Given the description of an element on the screen output the (x, y) to click on. 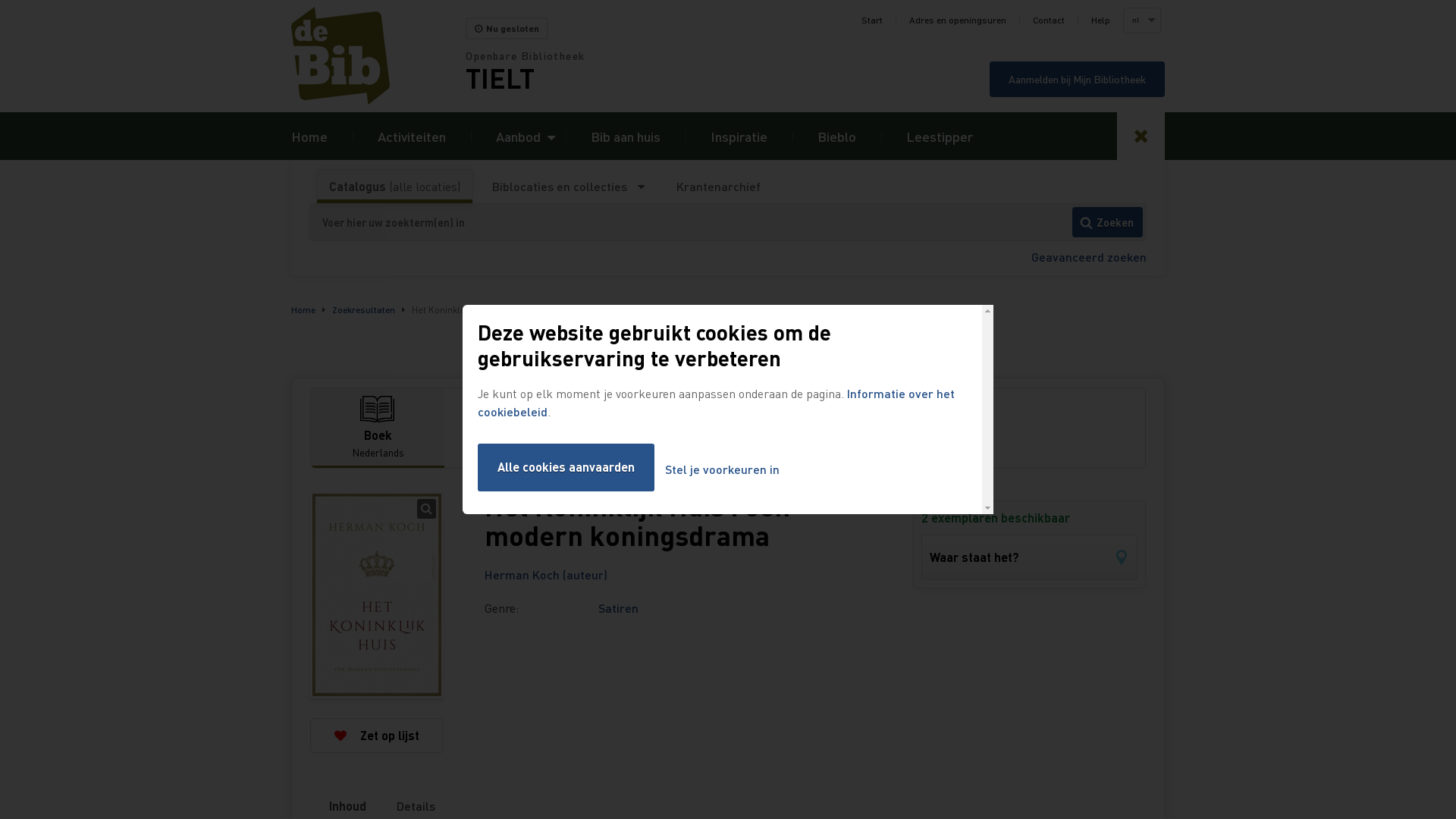
Start Element type: text (871, 20)
Stel je voorkeuren in Element type: text (722, 469)
Adres en openingsuren Element type: text (957, 20)
Zoekresultaten Element type: text (363, 309)
Leestipper Element type: text (939, 136)
Help Element type: text (1100, 20)
Aanmelden bij Mijn Bibliotheek Element type: text (1076, 79)
Bib aan huis Element type: text (625, 136)
Zet op lijst Element type: text (376, 735)
Biblocaties en collecties Element type: text (567, 186)
Satiren Element type: text (618, 607)
Home Element type: hover (378, 55)
Overslaan en naar zoeken gaan Element type: text (0, 0)
Home Element type: text (309, 136)
Inspiratie Element type: text (738, 136)
Alle cookies aanvaarden Element type: text (565, 466)
Informatie over het cookiebeleid Element type: text (715, 402)
Toggle search Element type: hover (1140, 136)
Krantenarchief Element type: text (718, 186)
Zoeken Element type: text (1107, 222)
Catalogus (alle locaties) Element type: text (394, 186)
Bieblo Element type: text (836, 136)
Herman Koch (auteur) Element type: text (545, 574)
nl Element type: text (1140, 20)
Activiteiten Element type: text (411, 136)
Nu gesloten Element type: text (506, 28)
Waar staat het? Element type: text (1029, 557)
Home Element type: text (303, 309)
Geavanceerd zoeken Element type: text (1088, 256)
Contact Element type: text (1048, 20)
